Given the description of an element on the screen output the (x, y) to click on. 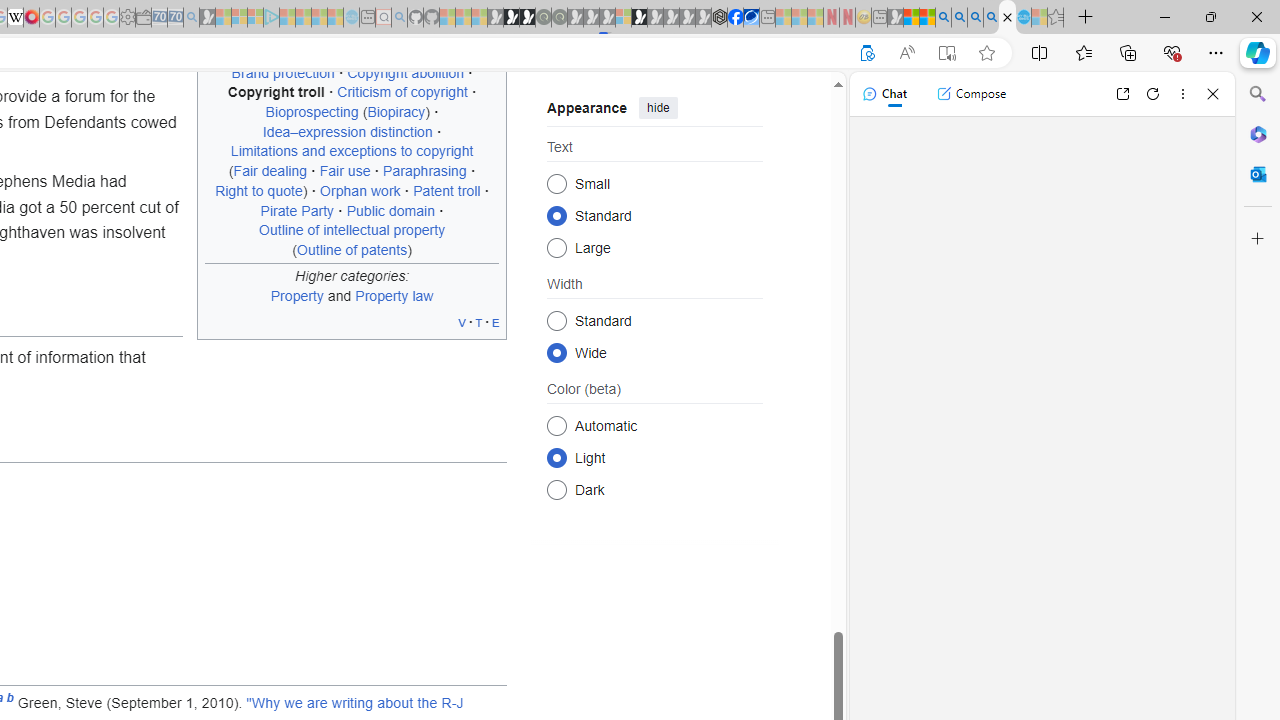
Property law (393, 295)
Google Chrome Internet Browser Download - Search Images (991, 17)
Support Wikipedia? (867, 53)
Orphan work (360, 190)
Outline of patents (351, 249)
AirNow.gov (751, 17)
Dark (556, 488)
Favorites - Sleeping (1055, 17)
